Given the description of an element on the screen output the (x, y) to click on. 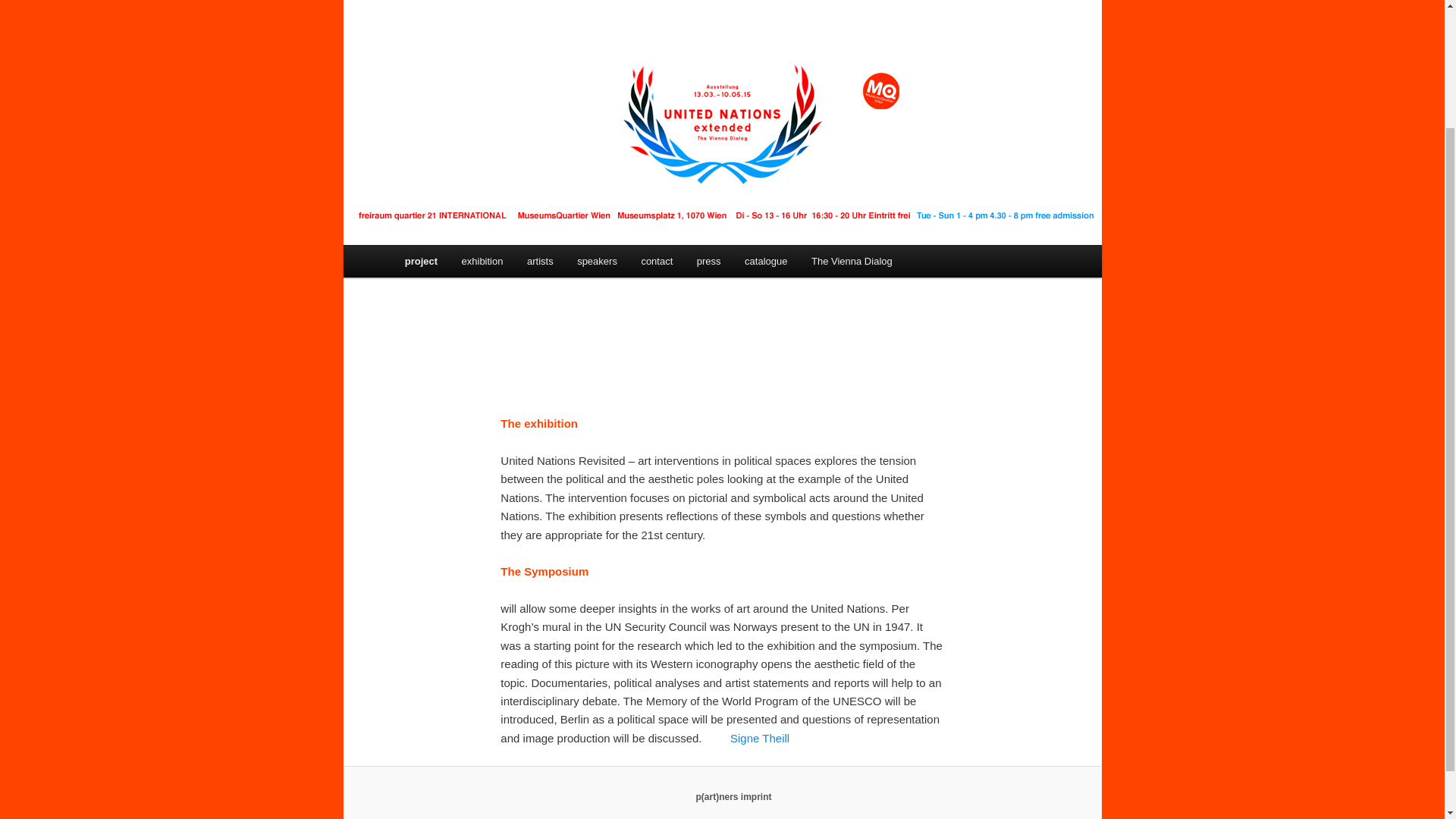
Skip to primary content (472, 263)
exhibition (482, 260)
press (708, 260)
Skip to primary content (472, 263)
speakers (596, 260)
contact (656, 260)
Signe Theill (759, 738)
Skip to secondary content (479, 263)
imprint (756, 796)
Skip to secondary content (479, 263)
Signe Theill (759, 738)
artists (539, 260)
catalogue (765, 260)
The Vienna Dialog (851, 260)
